Given the description of an element on the screen output the (x, y) to click on. 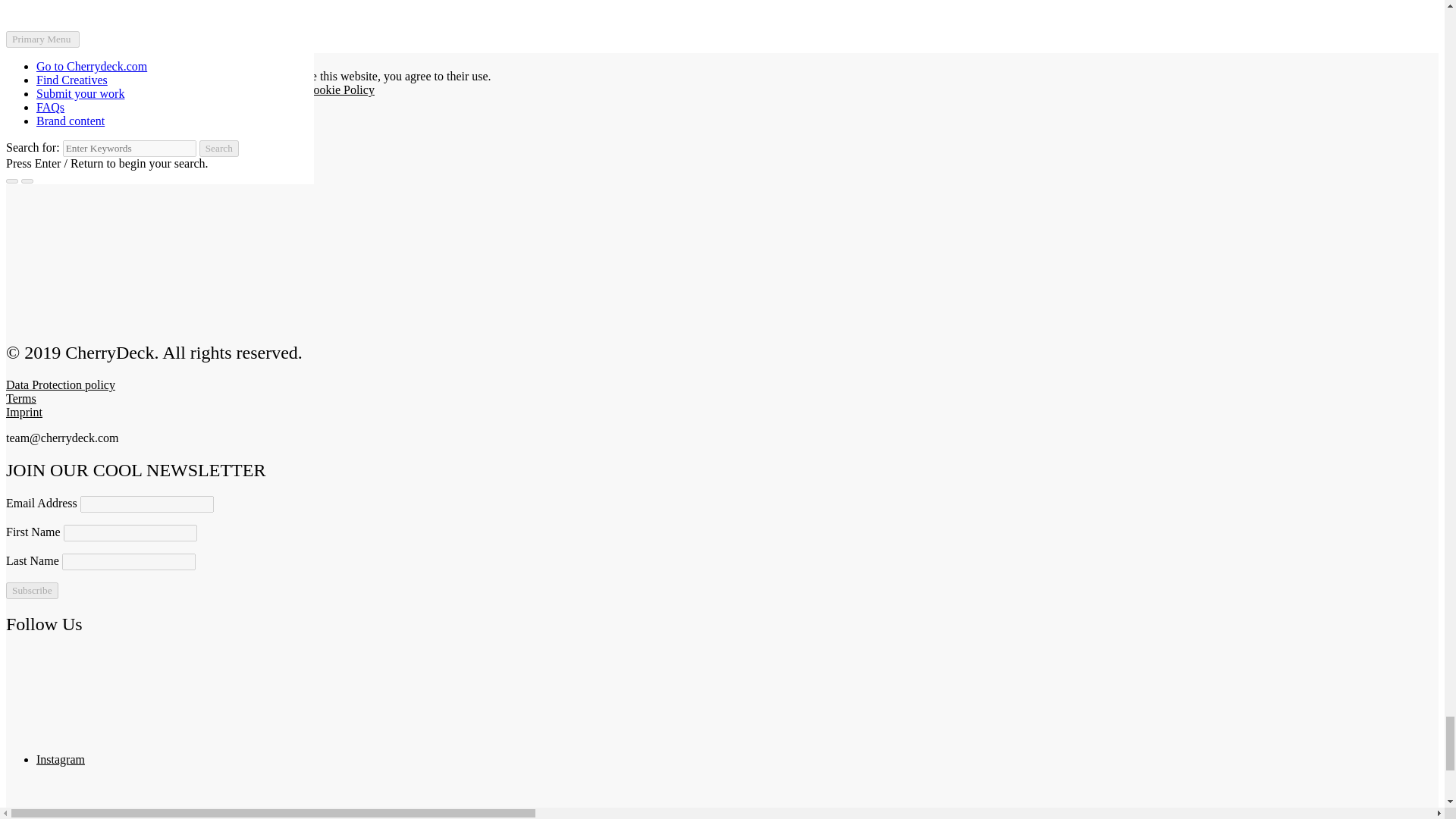
Close and accept (45, 61)
Subscribe (31, 590)
Comment Form (721, 24)
